Given the description of an element on the screen output the (x, y) to click on. 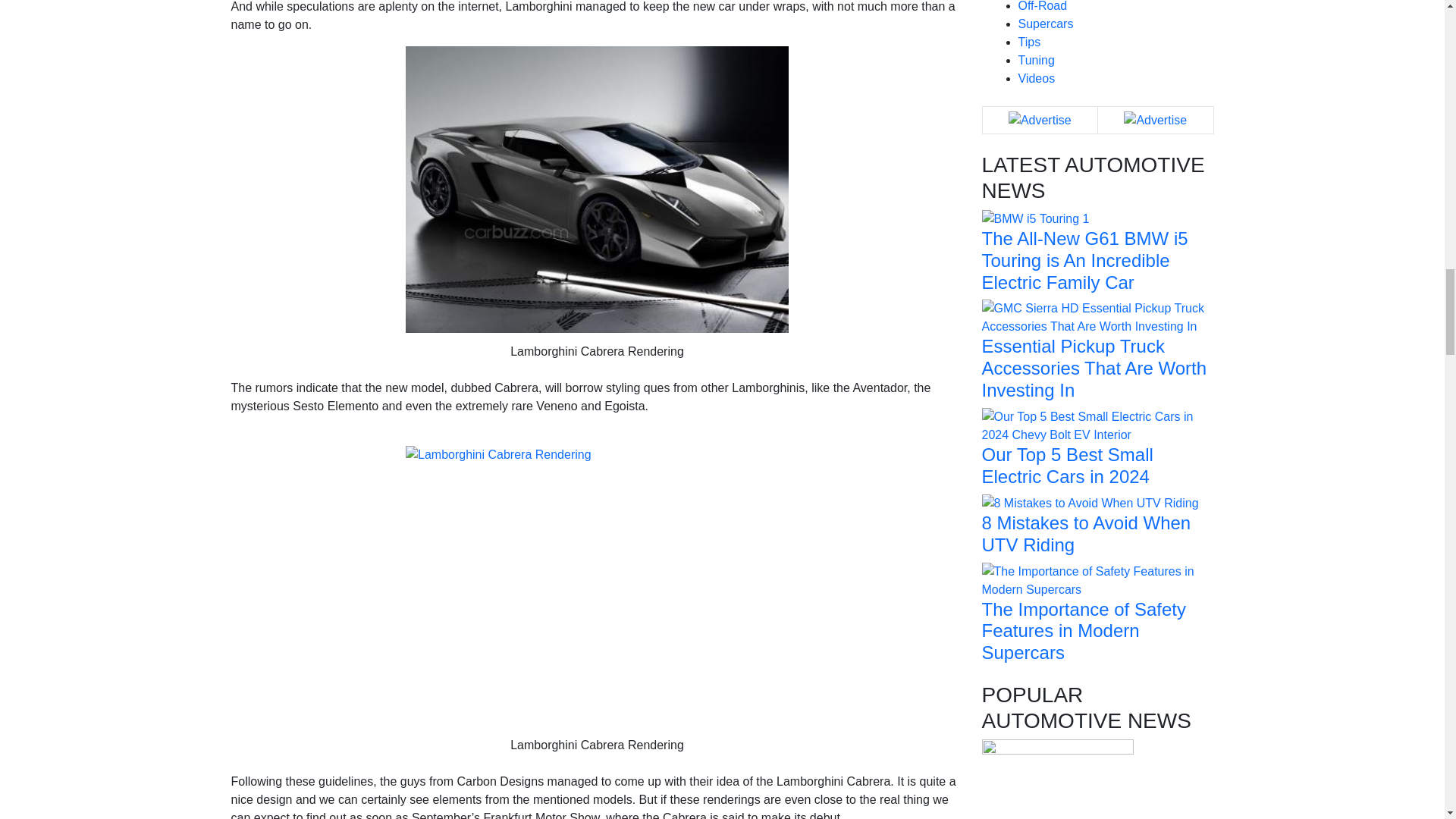
Our Top 5 Best Small Electric Cars in 2024 (1096, 424)
Advertise (1155, 119)
Advertise (1040, 119)
8 Mistakes to Avoid When UTV Riding (1089, 502)
The Importance of Safety Features in Modern Supercars (1096, 579)
Skoda Yeti to be produced in Ukraine (1056, 813)
